Given the description of an element on the screen output the (x, y) to click on. 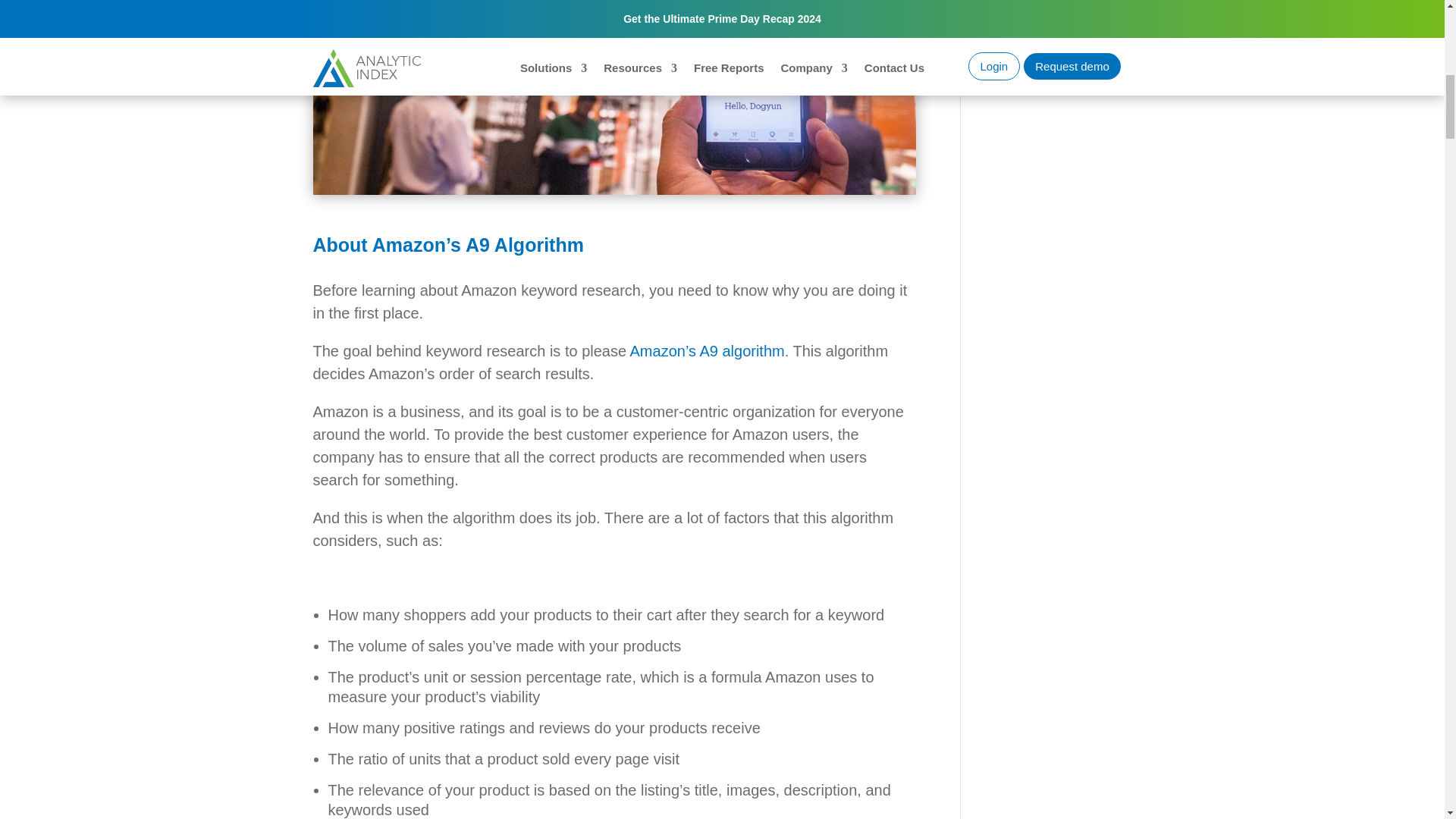
amazon keyword research (614, 97)
